Given the description of an element on the screen output the (x, y) to click on. 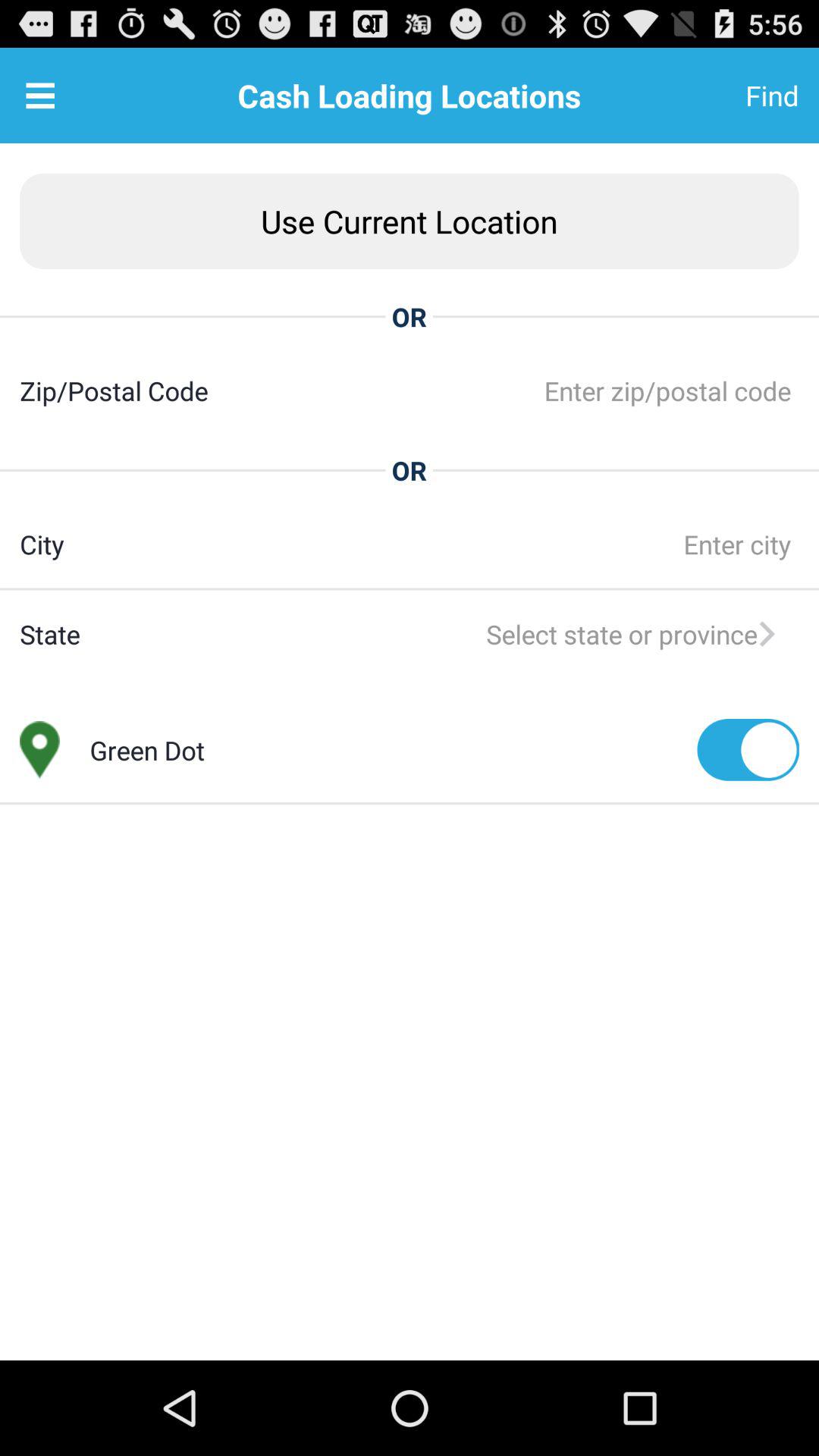
open icon next to the green dot app (748, 749)
